Given the description of an element on the screen output the (x, y) to click on. 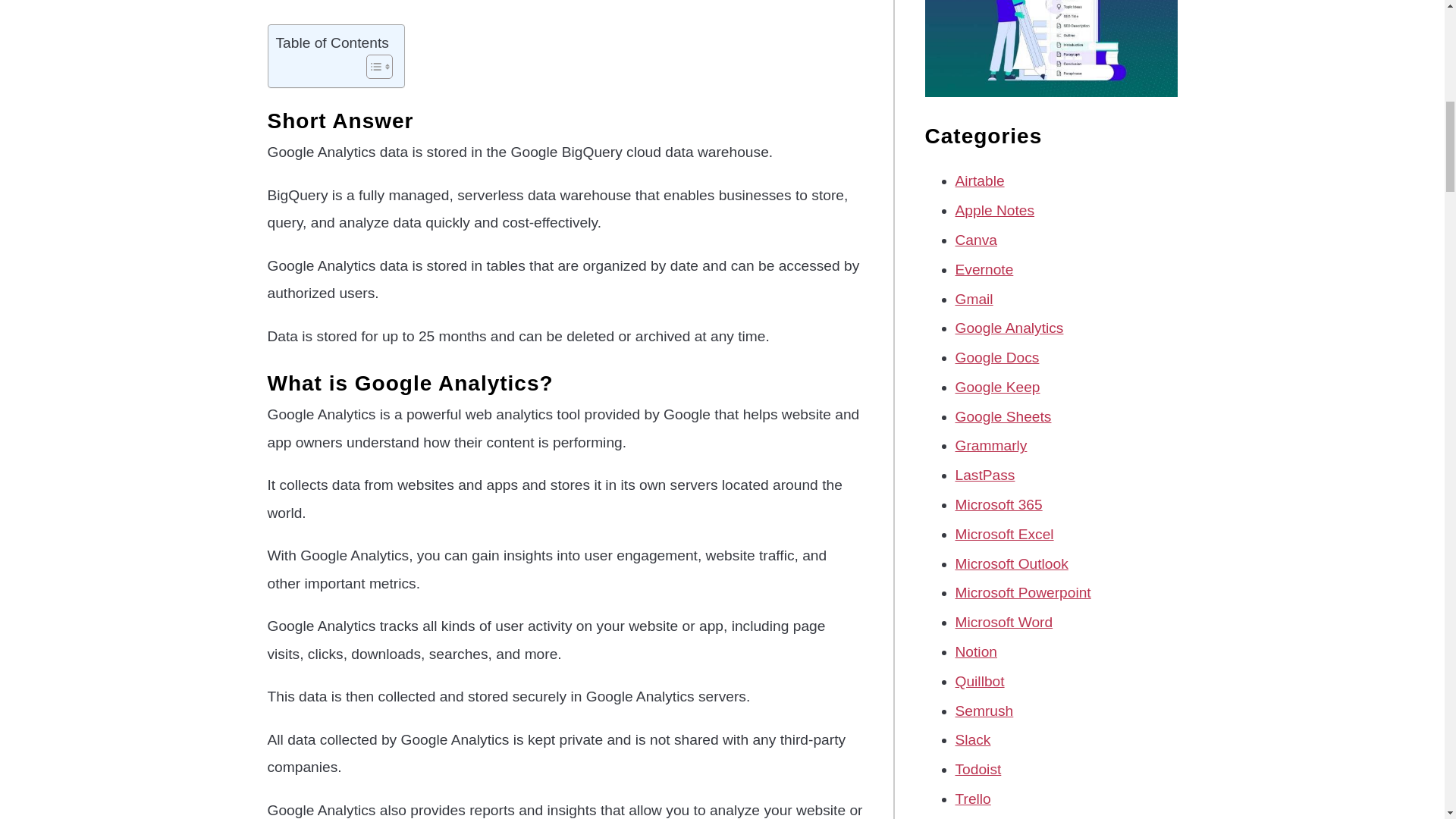
Apple Notes (995, 210)
Airtable (979, 180)
